Given the description of an element on the screen output the (x, y) to click on. 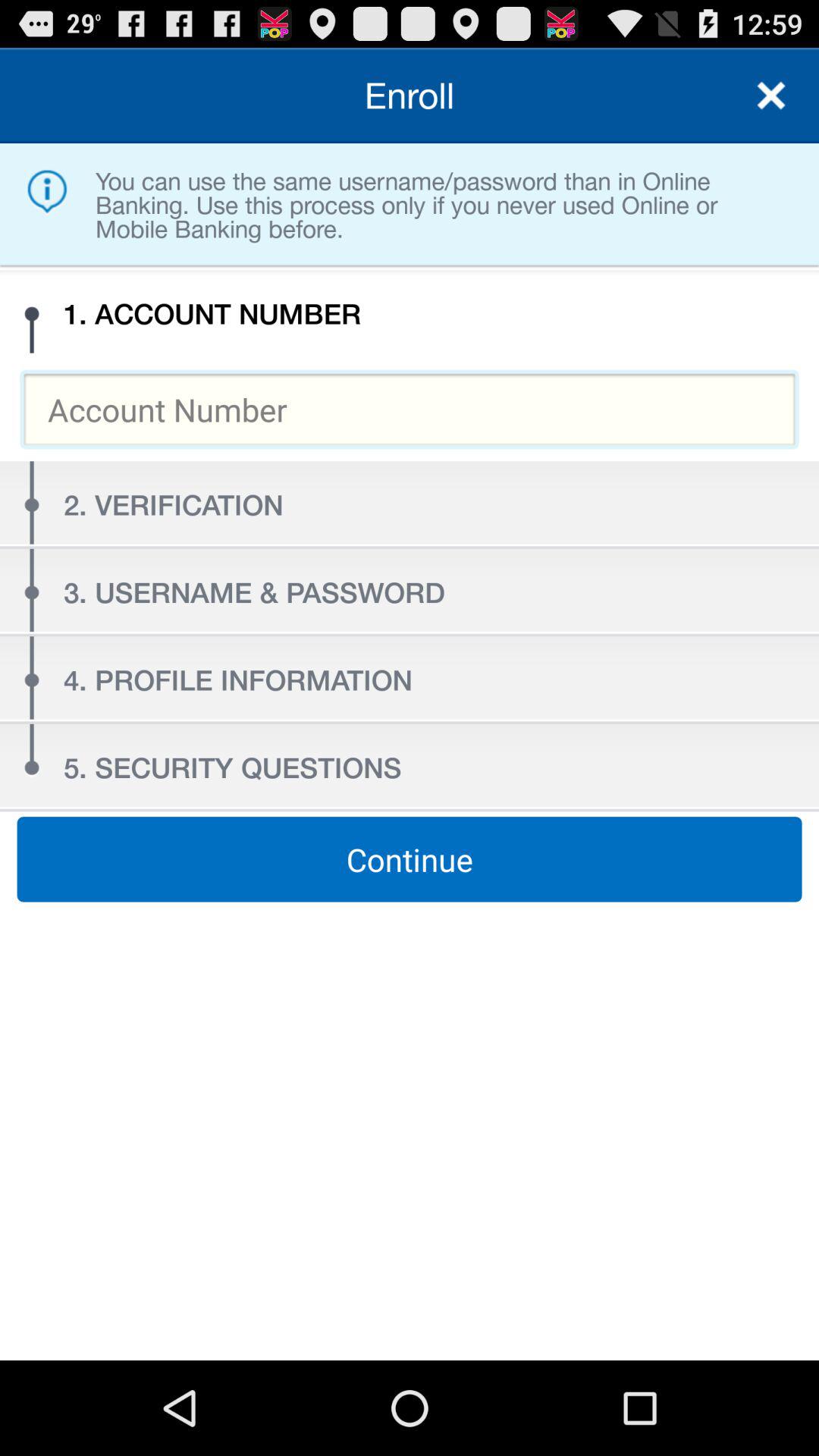
selected account number (409, 409)
